Given the description of an element on the screen output the (x, y) to click on. 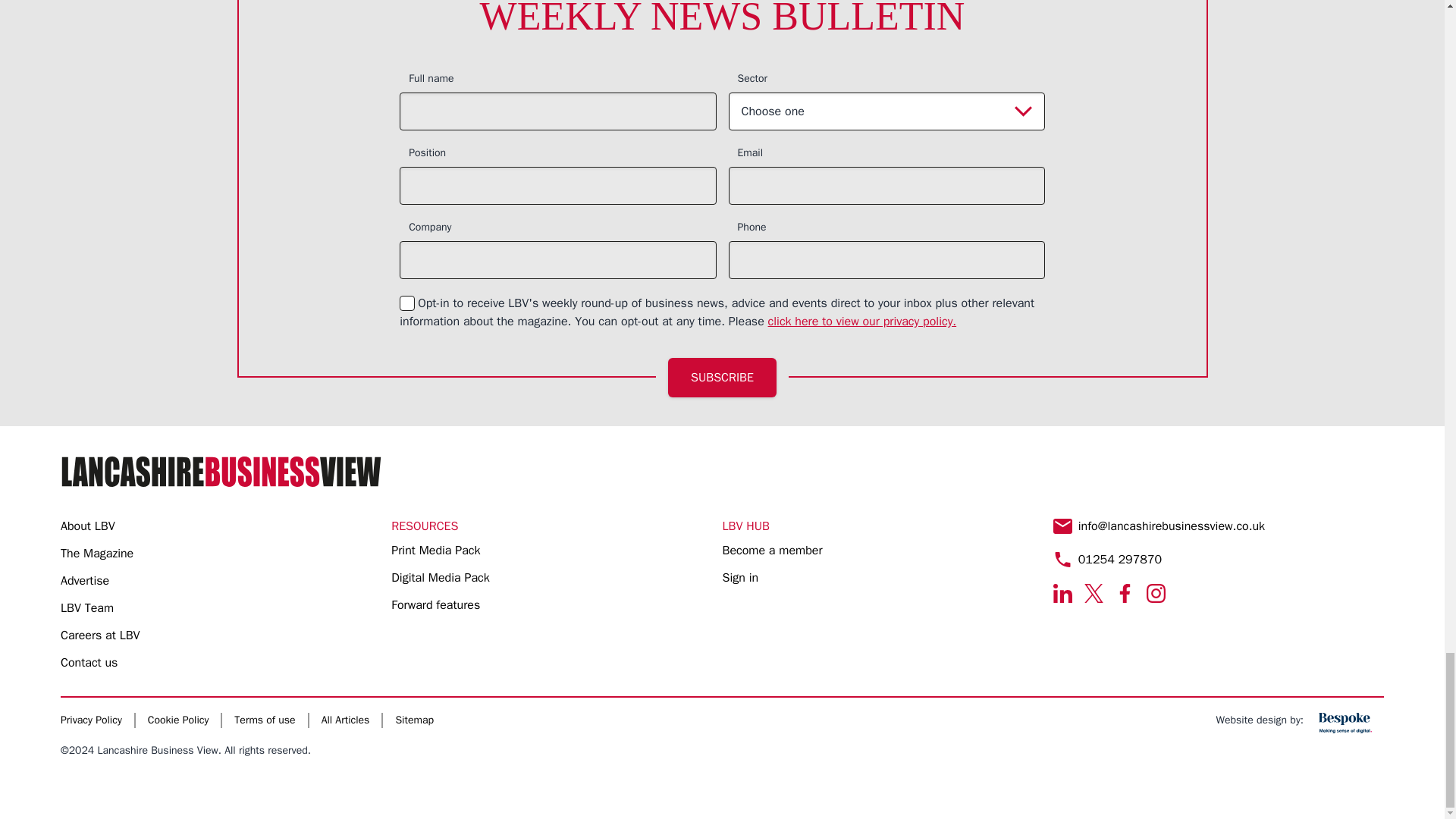
Privacy Policy (862, 321)
